Given the description of an element on the screen output the (x, y) to click on. 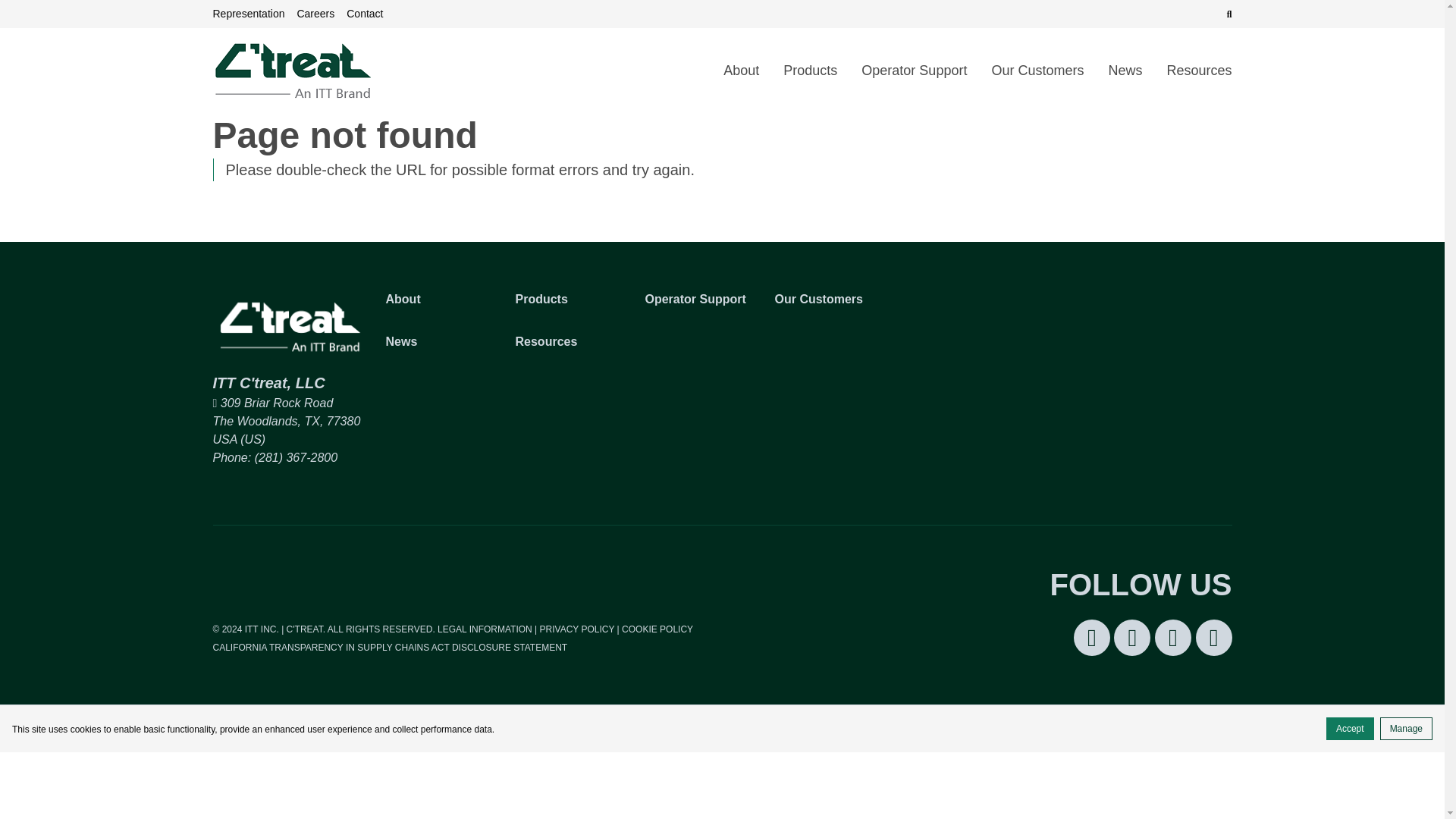
Contact (364, 13)
About (741, 70)
Our Customers (1037, 70)
News (1125, 70)
Follow us on Facebook! (1131, 637)
Resources (1192, 70)
Products (809, 70)
Operator Support (913, 70)
About (440, 299)
Follow us on LinkedIn! (1091, 637)
Accept (1350, 728)
Contact (364, 13)
Products (571, 299)
Resources (571, 341)
Follow us on Youtube! (1213, 637)
